Given the description of an element on the screen output the (x, y) to click on. 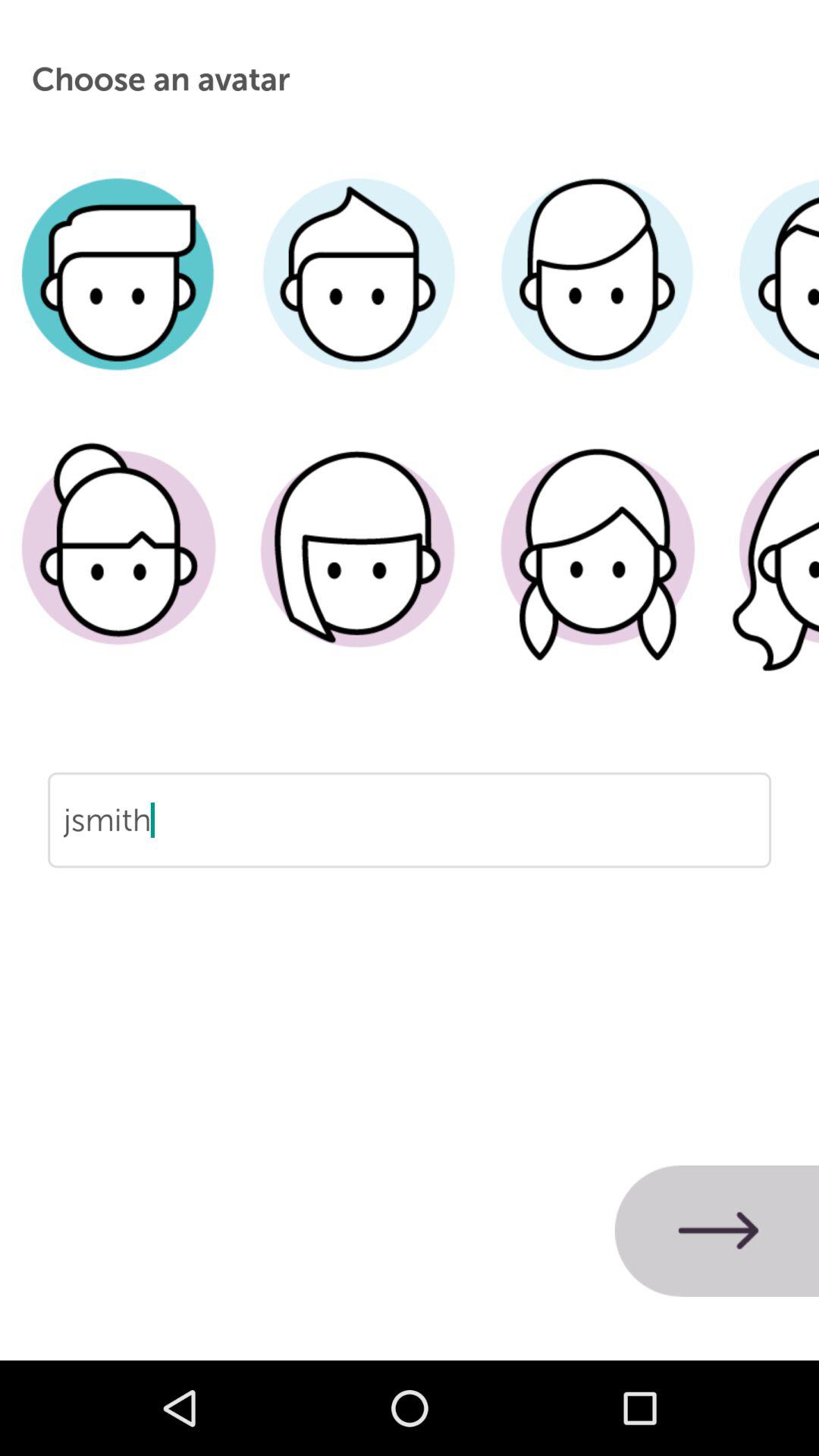
profile avator (357, 570)
